Given the description of an element on the screen output the (x, y) to click on. 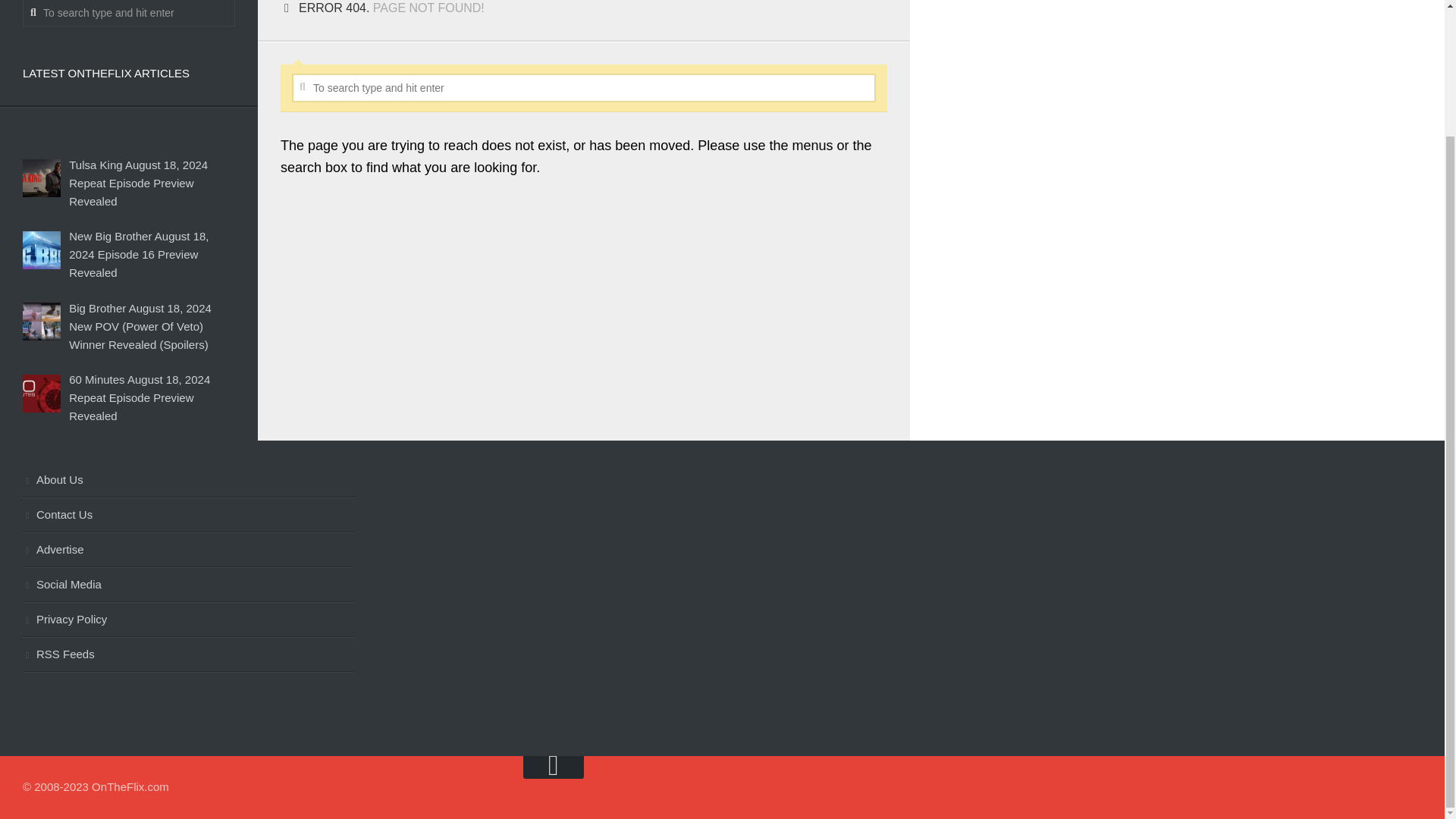
RSS Feeds (188, 655)
To search type and hit enter (584, 87)
60 Minutes August 18, 2024 Repeat Episode Preview Revealed (138, 397)
Contact Us (188, 515)
To search type and hit enter (128, 13)
Advertise (188, 550)
To search type and hit enter (128, 13)
Social Media (188, 585)
About Us (188, 480)
To search type and hit enter (584, 87)
